Given the description of an element on the screen output the (x, y) to click on. 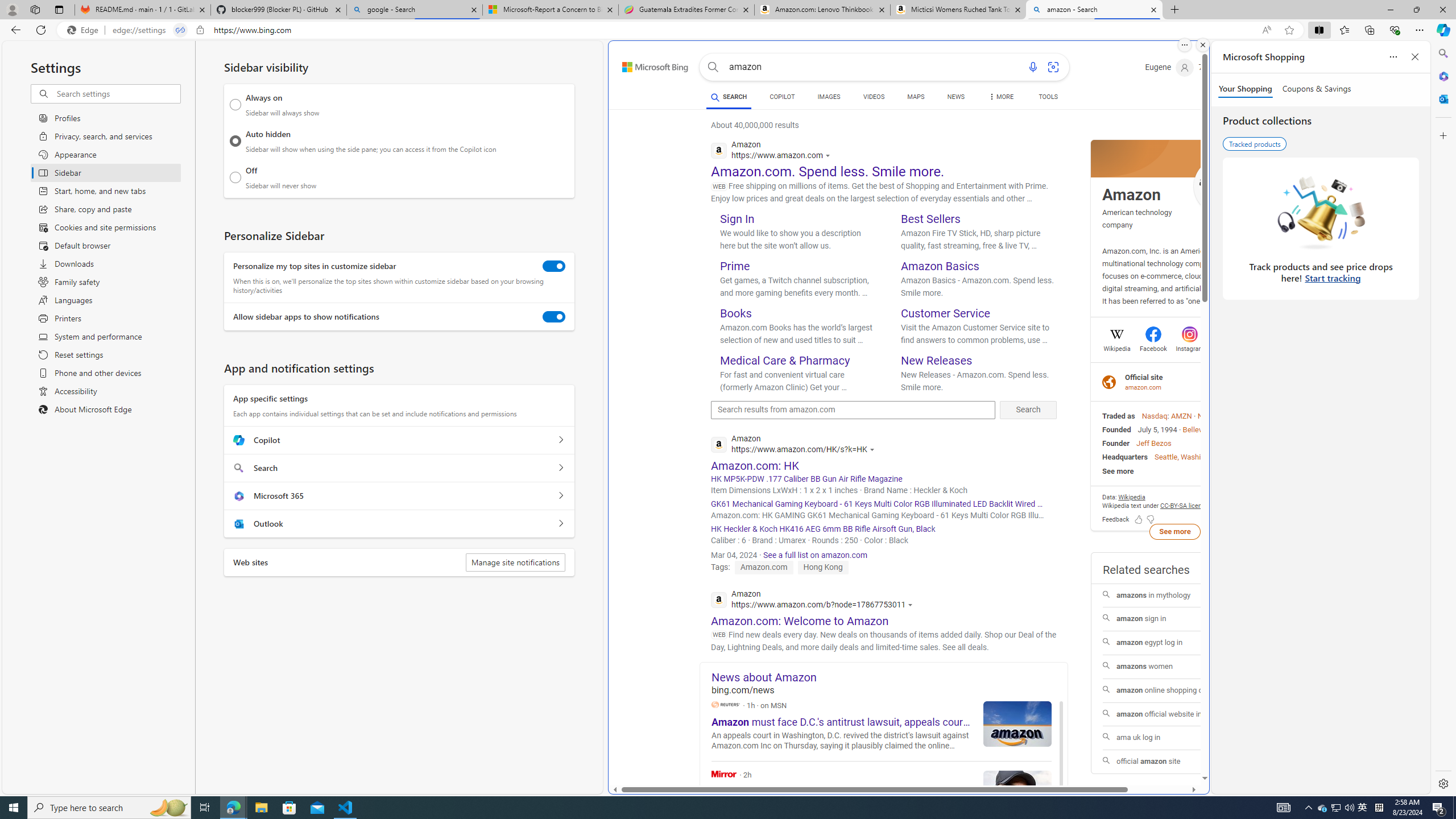
Class: sp-ofsite (1108, 382)
Outlook (1442, 98)
Search results from amazon.com (852, 409)
Official siteamazon.com (1174, 381)
Amazon Basics (940, 265)
Microsoft Rewards 72 (1214, 67)
MORE (1000, 98)
Feedback Like (1138, 519)
